Given the description of an element on the screen output the (x, y) to click on. 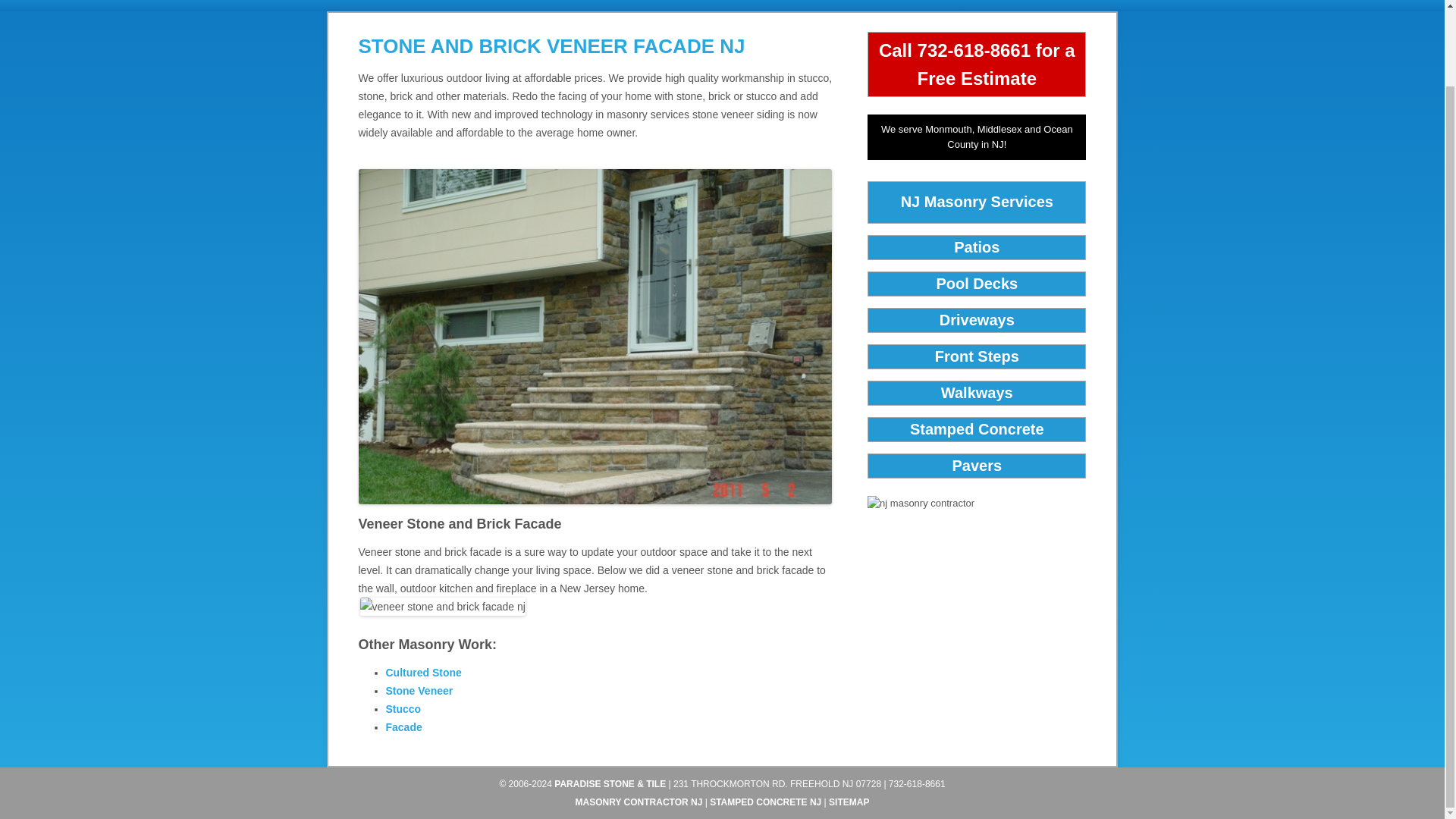
Pools (539, 5)
PATIOS (455, 5)
SITEMAP (848, 801)
walkways nj (976, 392)
front steps nj (976, 356)
Driveways (634, 5)
Walkways (820, 5)
POOLS (539, 5)
Pavers (976, 465)
Pool Decks (976, 283)
STAMPED CONCRETE NJ (765, 801)
WALKWAYS (820, 5)
Walkways (976, 392)
Front Steps (976, 356)
